Given the description of an element on the screen output the (x, y) to click on. 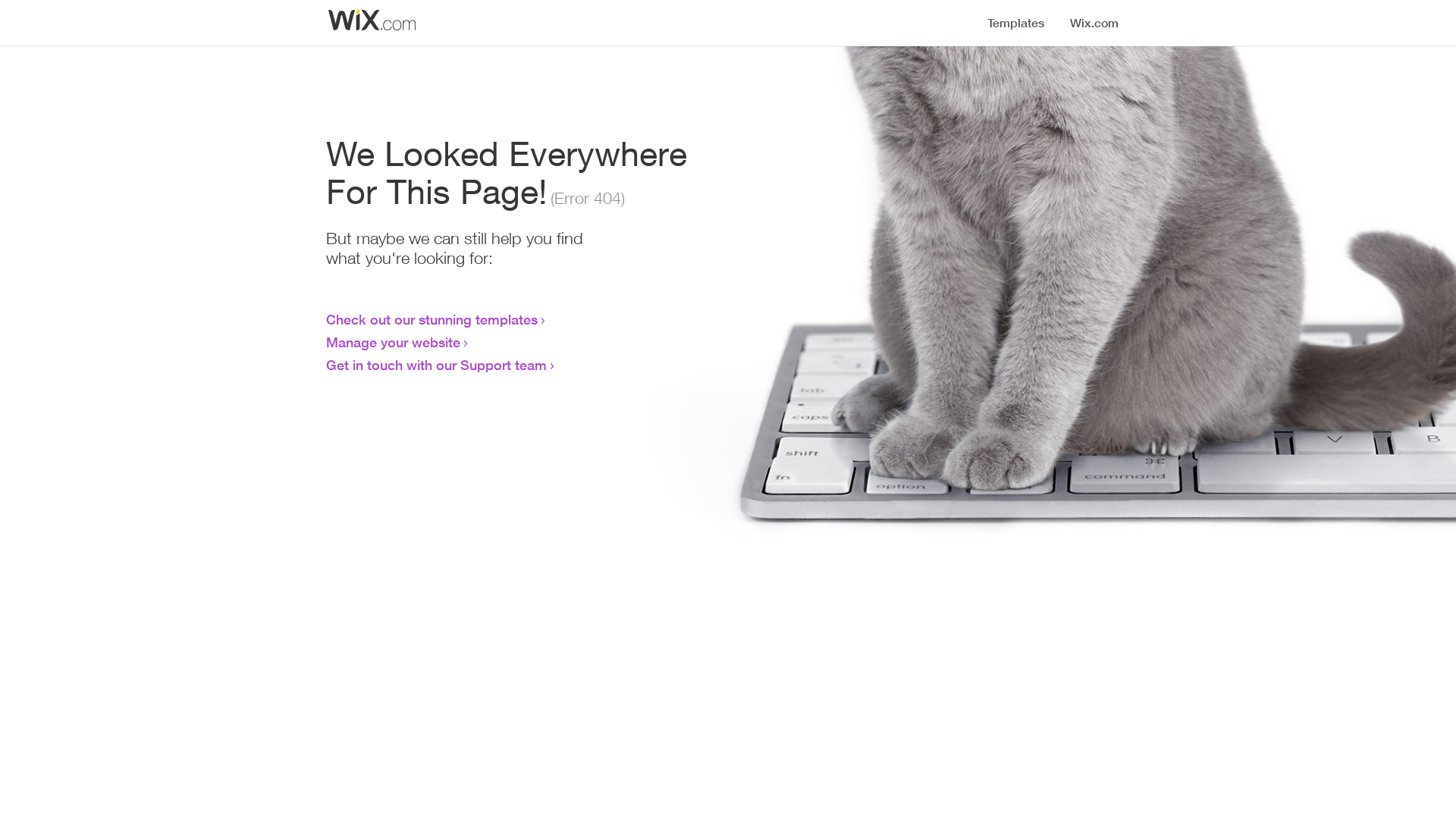
Manage your website Element type: text (393, 341)
Get in touch with our Support team Element type: text (436, 364)
Check out our stunning templates Element type: text (431, 318)
